Given the description of an element on the screen output the (x, y) to click on. 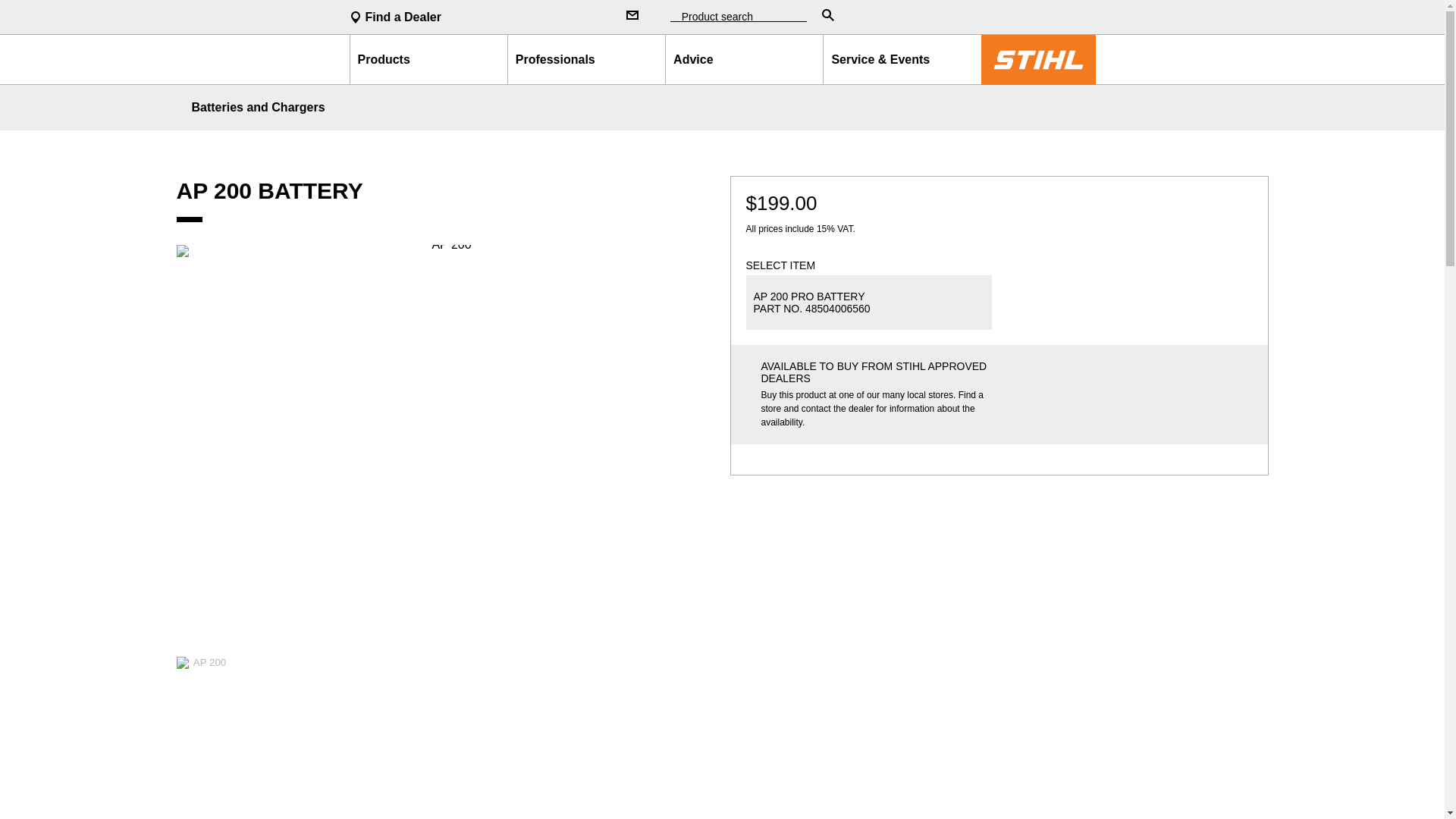
Advice (743, 59)
Products (428, 59)
Find a Dealer (475, 16)
Professionals (586, 59)
